Given the description of an element on the screen output the (x, y) to click on. 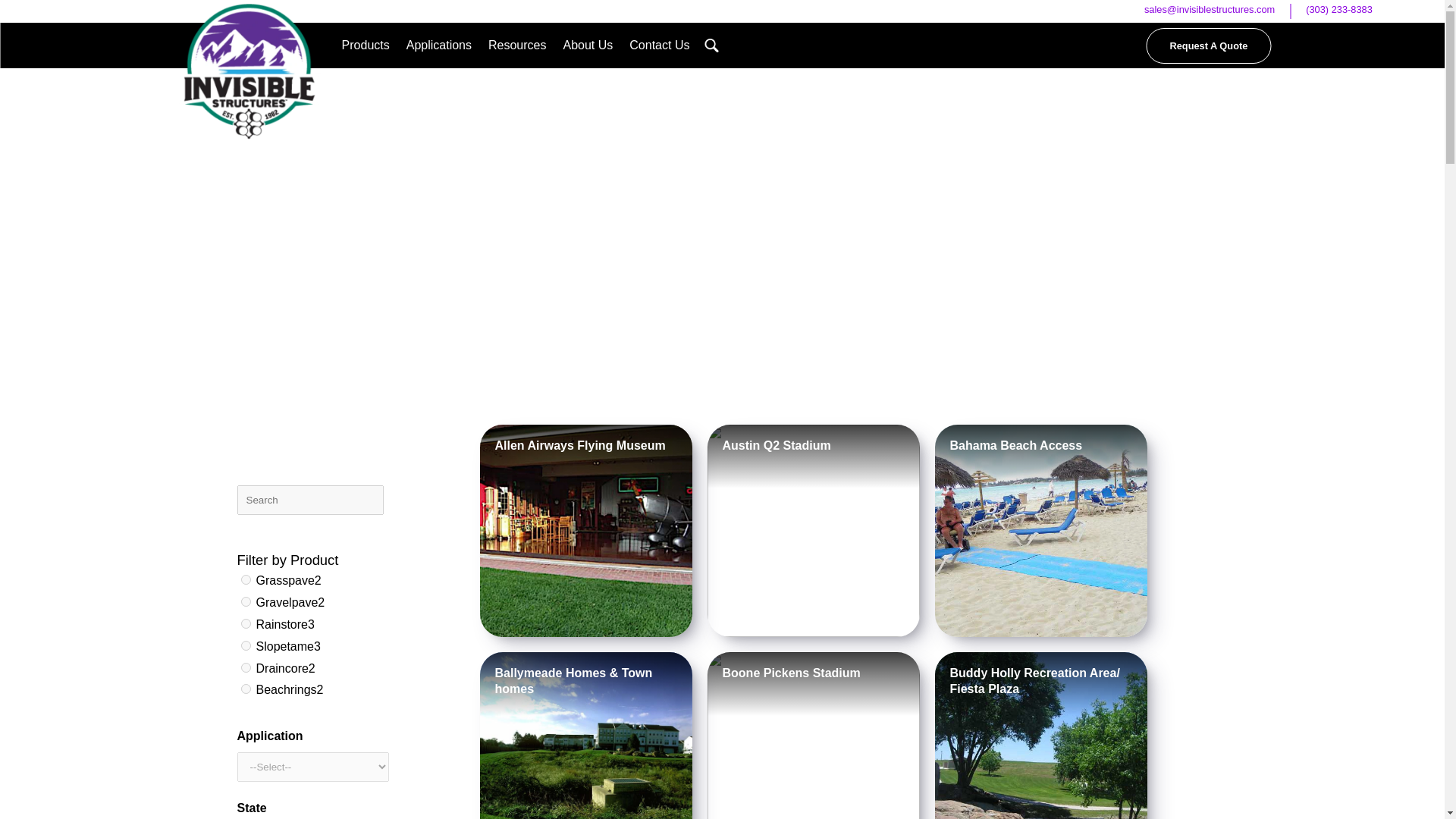
Resources (516, 45)
Gravelpave2 (245, 601)
Grasspave2 (245, 579)
Applications (438, 45)
Rainstore3 (245, 623)
Draincore2 (245, 667)
Slopetame3 (245, 645)
About Us (587, 45)
Beachrings2 (245, 688)
Products (366, 45)
